Given the description of an element on the screen output the (x, y) to click on. 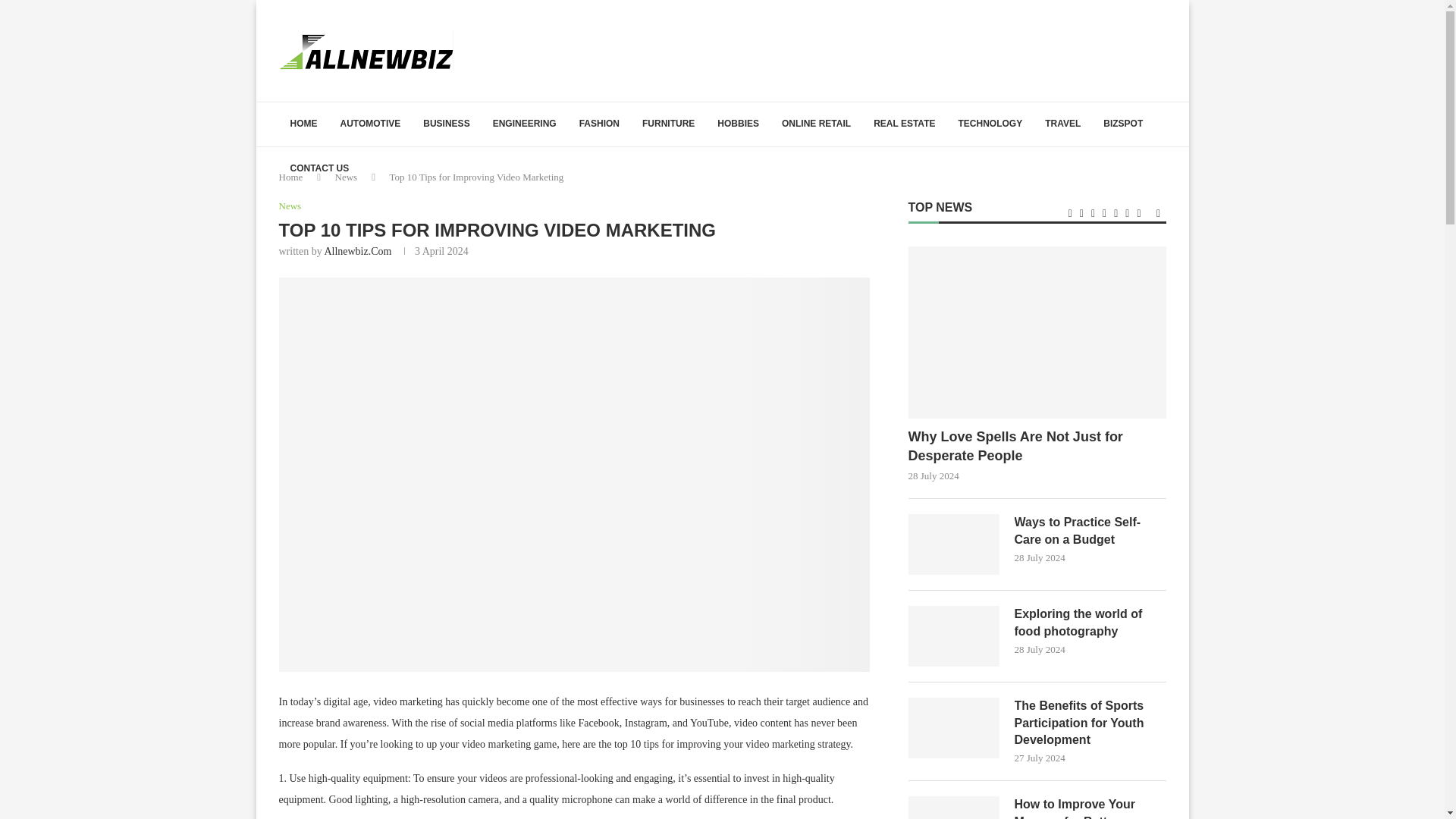
FURNITURE (668, 124)
Home (290, 176)
TECHNOLOGY (989, 124)
CONTACT US (320, 168)
REAL ESTATE (903, 124)
ENGINEERING (524, 124)
AUTOMOTIVE (370, 124)
HOME (304, 124)
News (346, 176)
News (290, 205)
Allnewbiz.Com (357, 251)
Why Love Spells Are Not Just for Desperate People (1037, 332)
BIZSPOT (1123, 124)
TRAVEL (1062, 124)
